Given the description of an element on the screen output the (x, y) to click on. 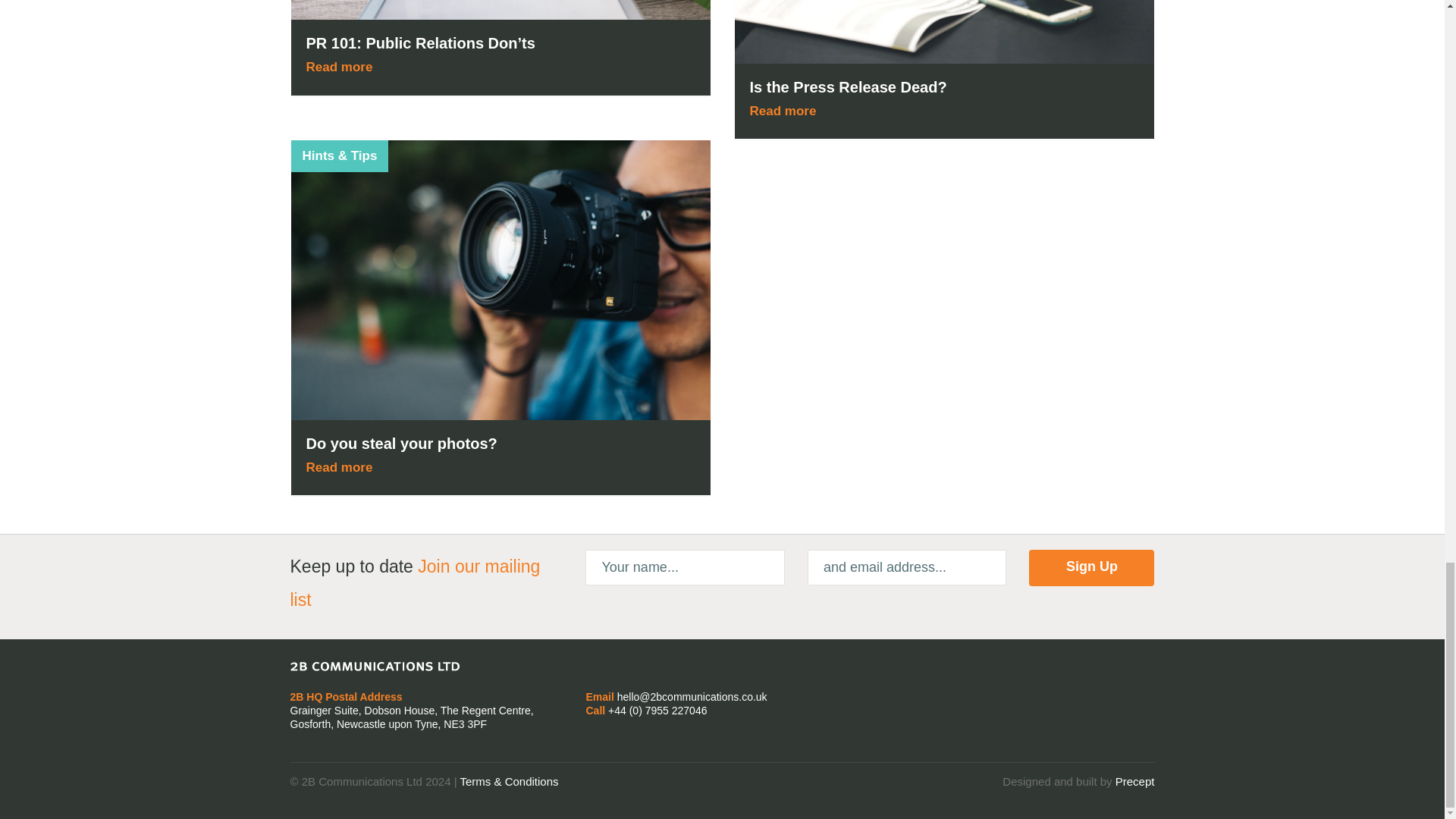
2B Communications Ltd (373, 665)
Read more (341, 66)
Read more (341, 467)
Sign Up (1091, 567)
Read more (785, 110)
